Given the description of an element on the screen output the (x, y) to click on. 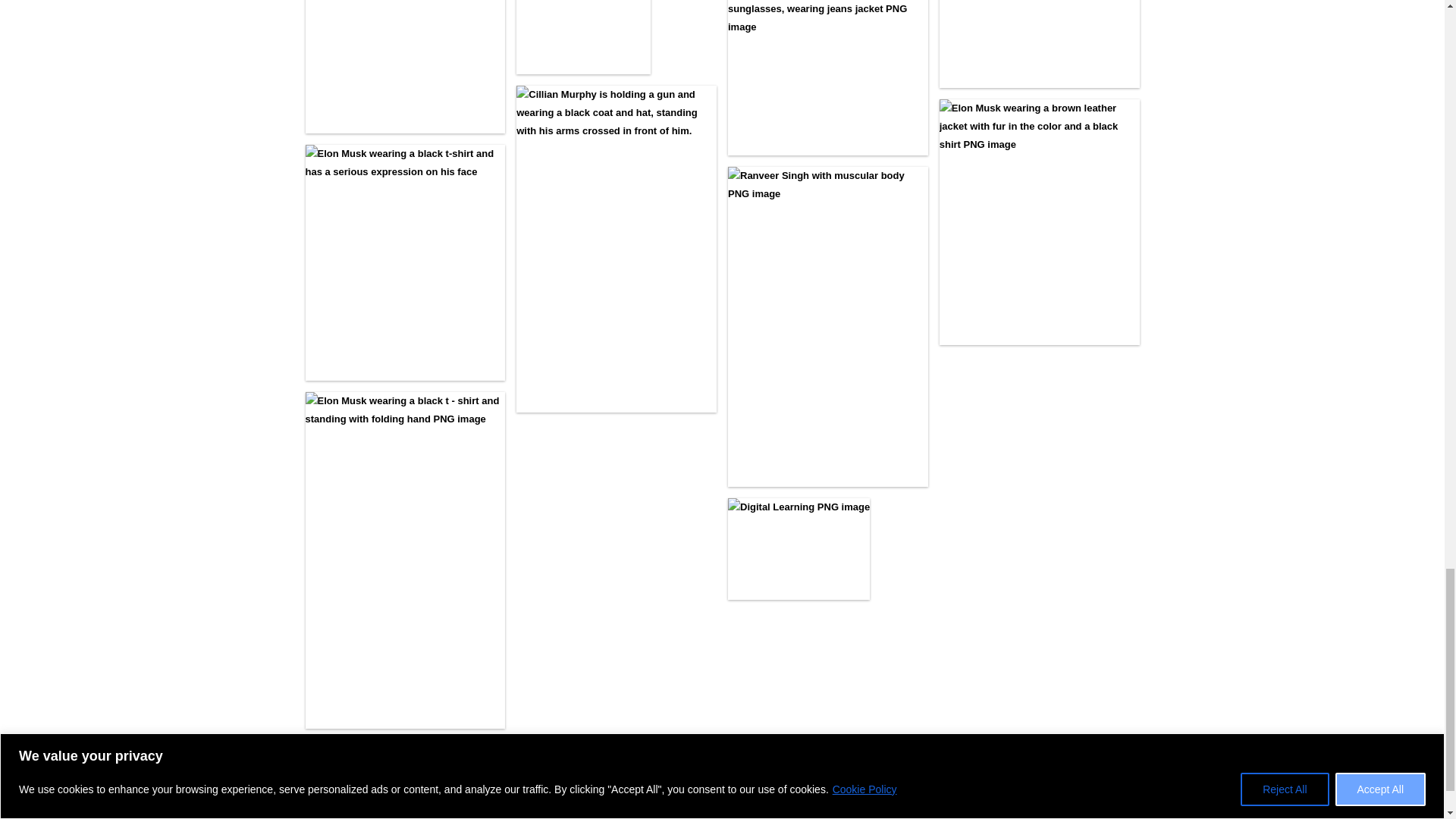
Ranveer Singh with beard and sunglasses PNG image (828, 77)
Digital Learning PNG image (798, 547)
Somersby Apple Cider PNG image (583, 37)
Elon Musk Holding Red toy PNG image (404, 66)
